Given the description of an element on the screen output the (x, y) to click on. 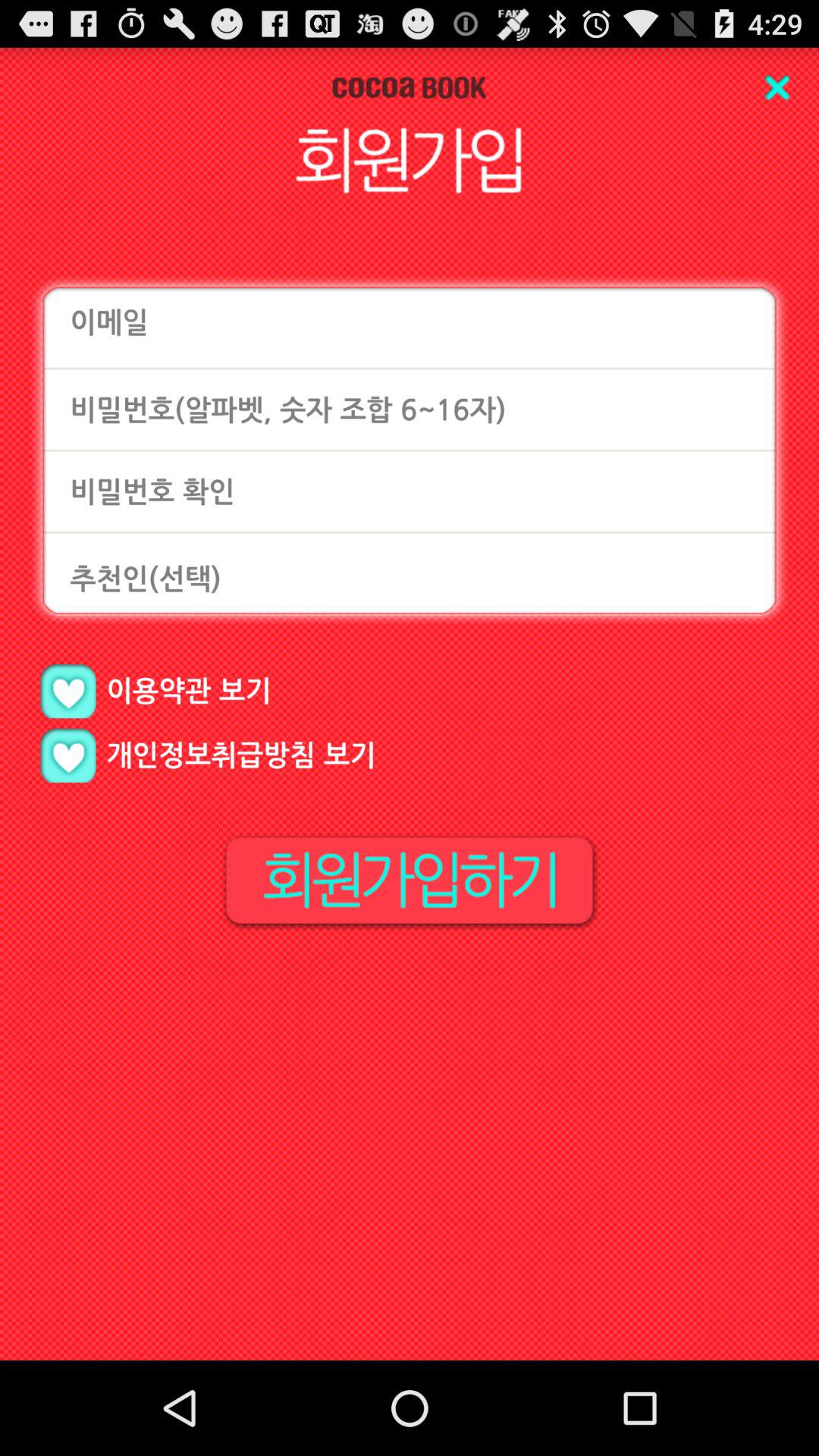
mark as favorite (68, 691)
